Given the description of an element on the screen output the (x, y) to click on. 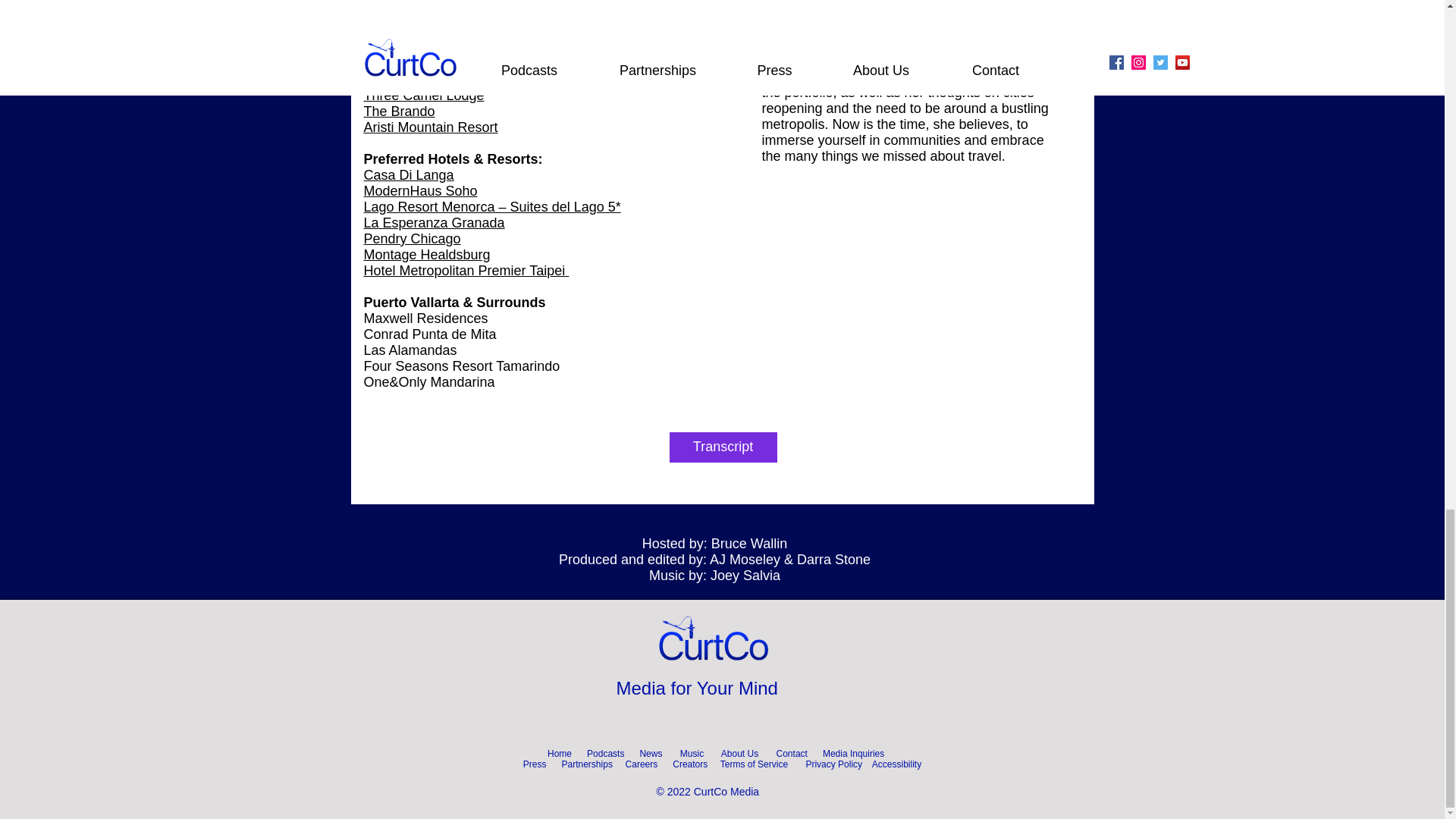
Xigera Safari Lodge (424, 79)
ModernHaus Soho (420, 191)
Bentwood Inn (405, 63)
The Brando (399, 111)
Aristi Mountain Resort (430, 127)
Three Camel Lodge (424, 95)
Montage Healdsburg (427, 254)
Hotel Metropolitan Premier Taipei  (466, 270)
Casa Di Langa (409, 174)
Pendry Chicago (412, 238)
